Given the description of an element on the screen output the (x, y) to click on. 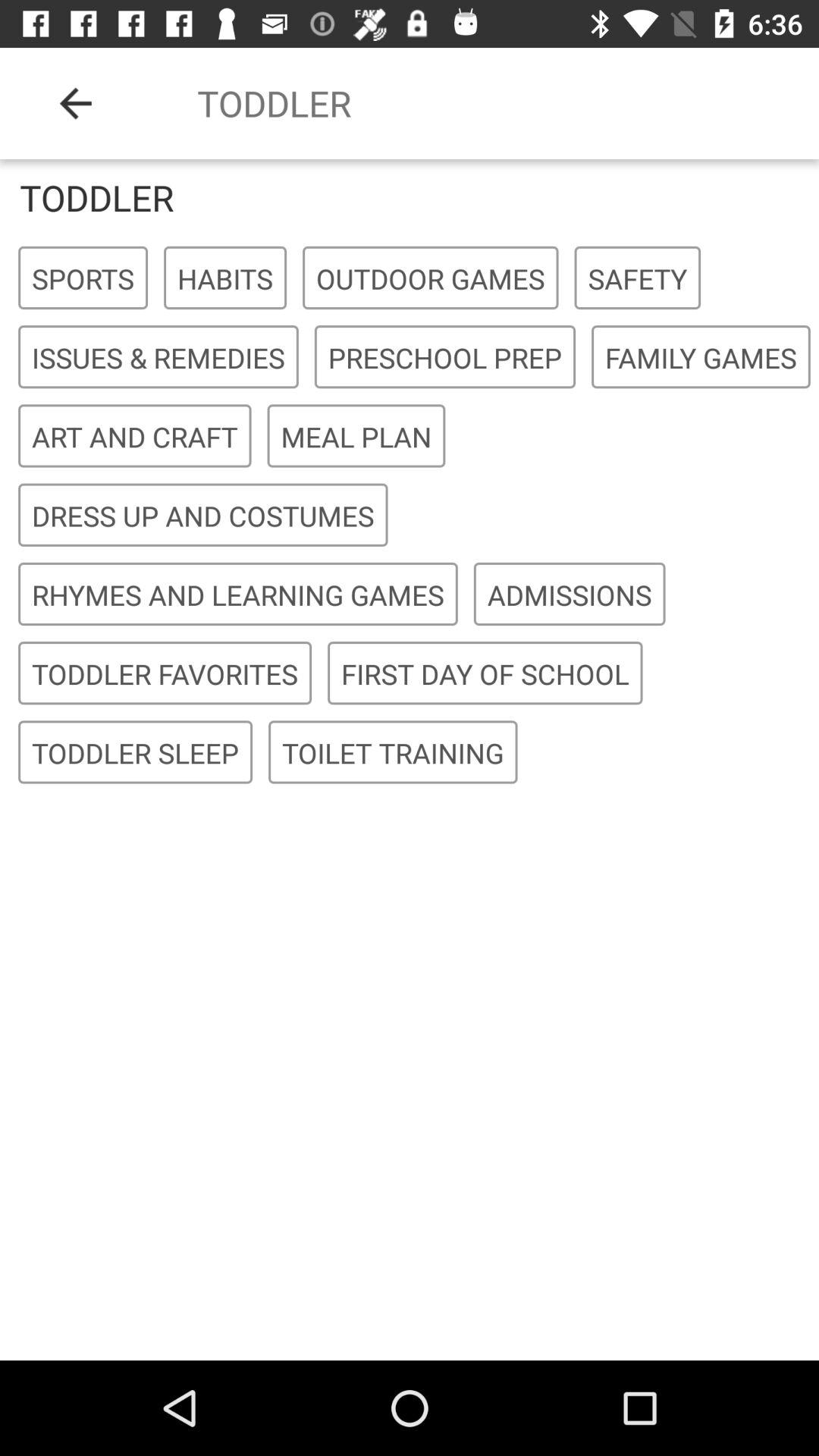
open family games icon (700, 357)
